Given the description of an element on the screen output the (x, y) to click on. 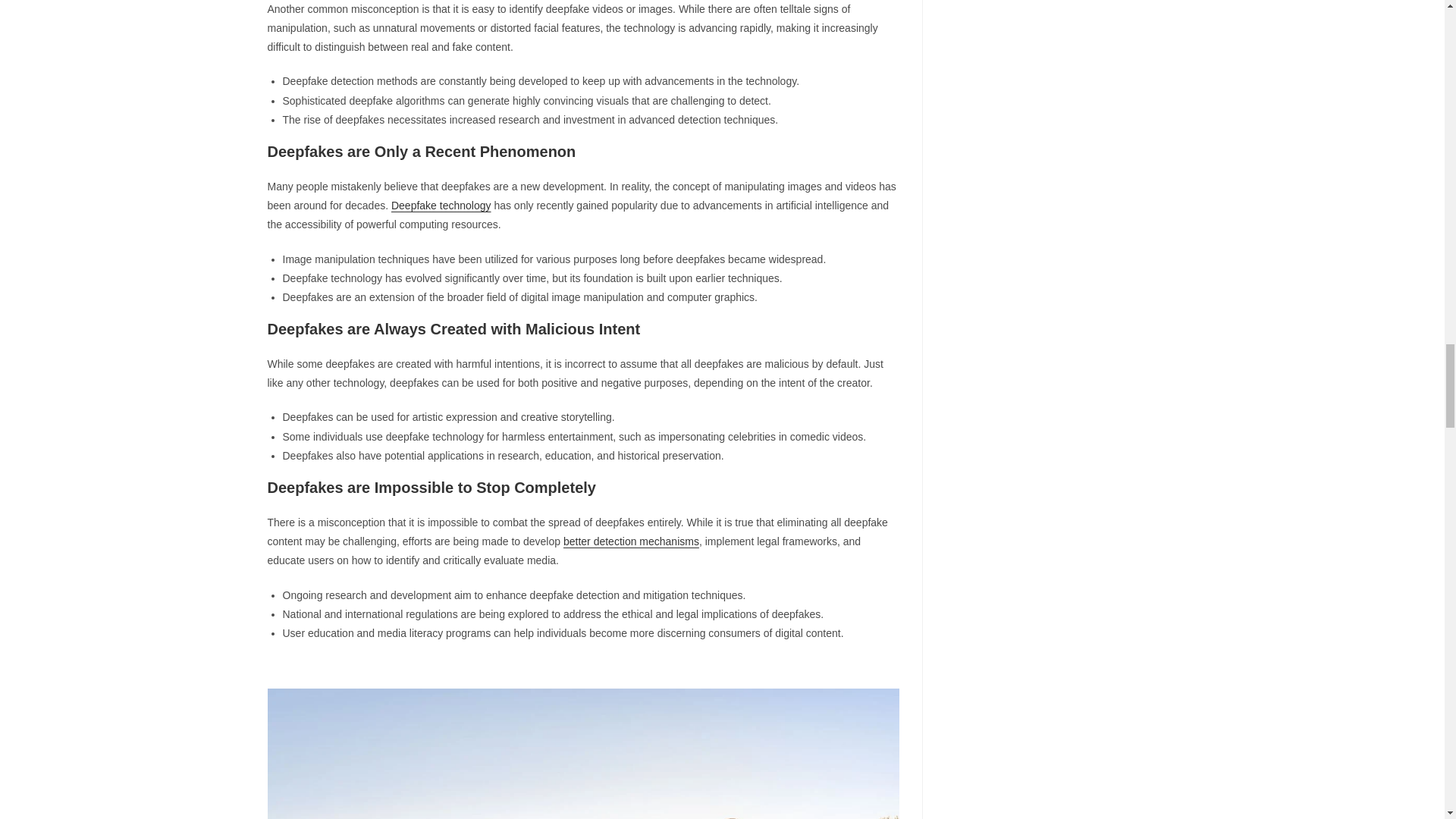
Deepfake technology (441, 205)
better detection mechanisms (630, 541)
Deepfake Now (582, 753)
